Given the description of an element on the screen output the (x, y) to click on. 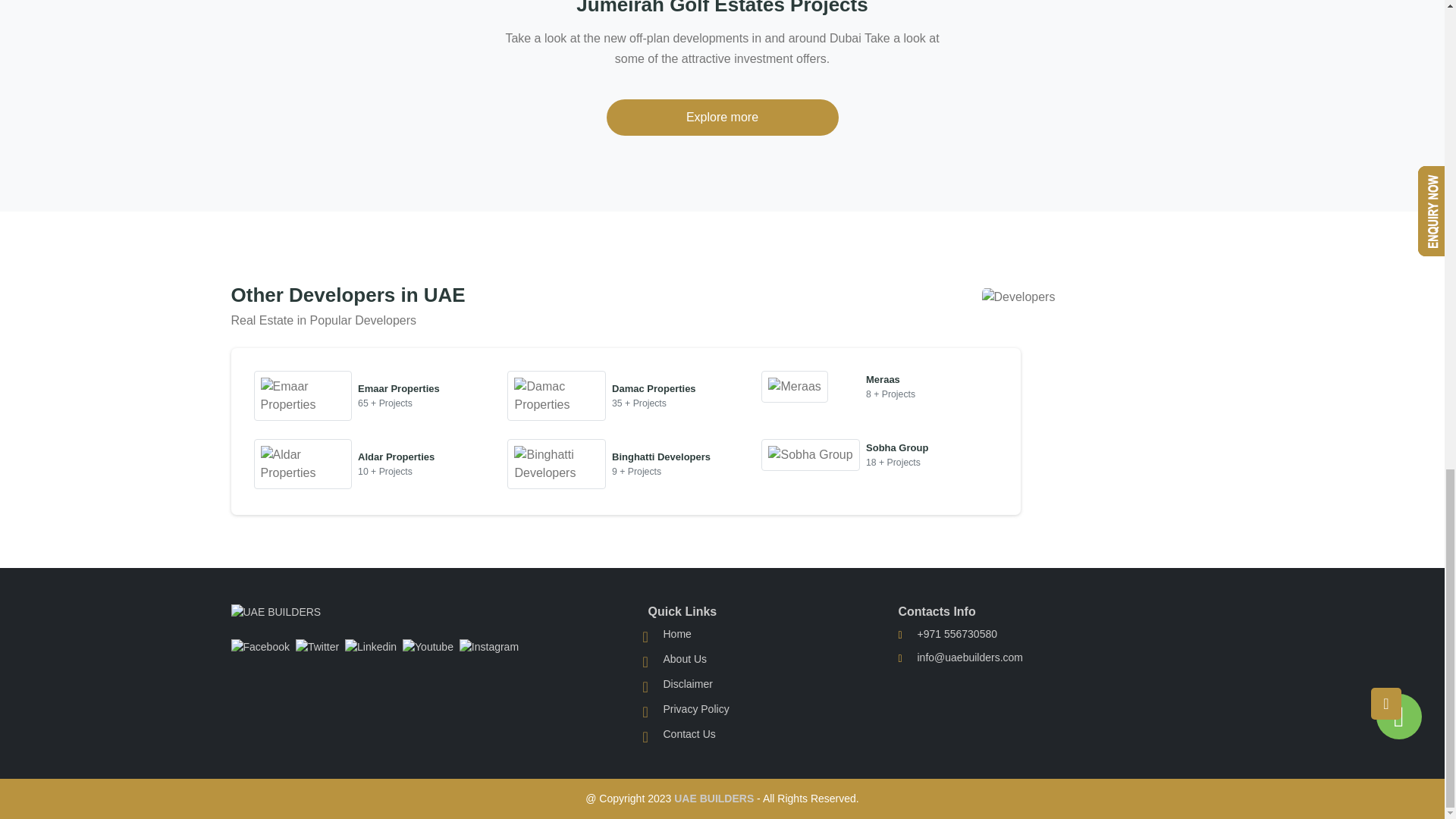
Privacy Policy (695, 711)
Contact Us (688, 736)
Explore more (722, 117)
UAE BUILDERS (714, 798)
Disclaimer (686, 686)
About Us (684, 662)
Home (676, 638)
